Given the description of an element on the screen output the (x, y) to click on. 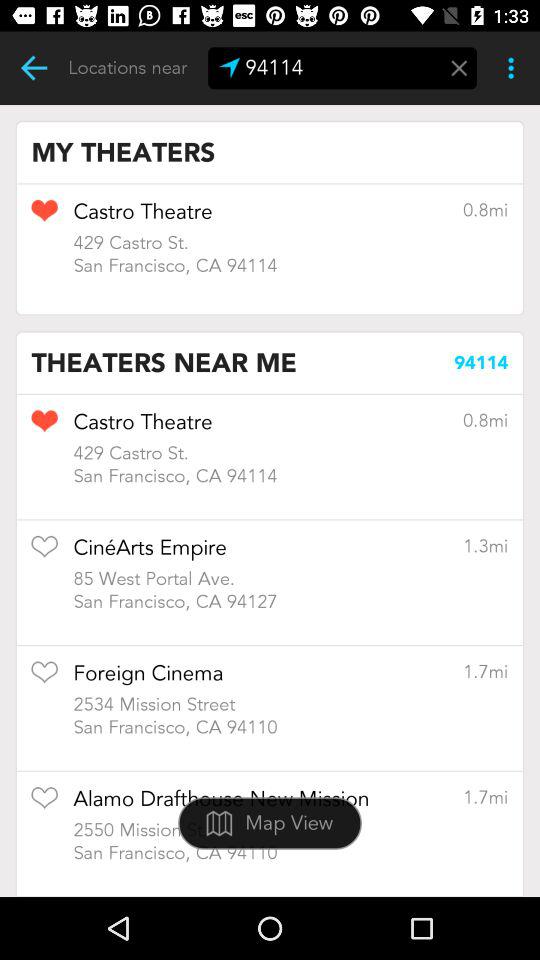
menu pega (459, 68)
